Given the description of an element on the screen output the (x, y) to click on. 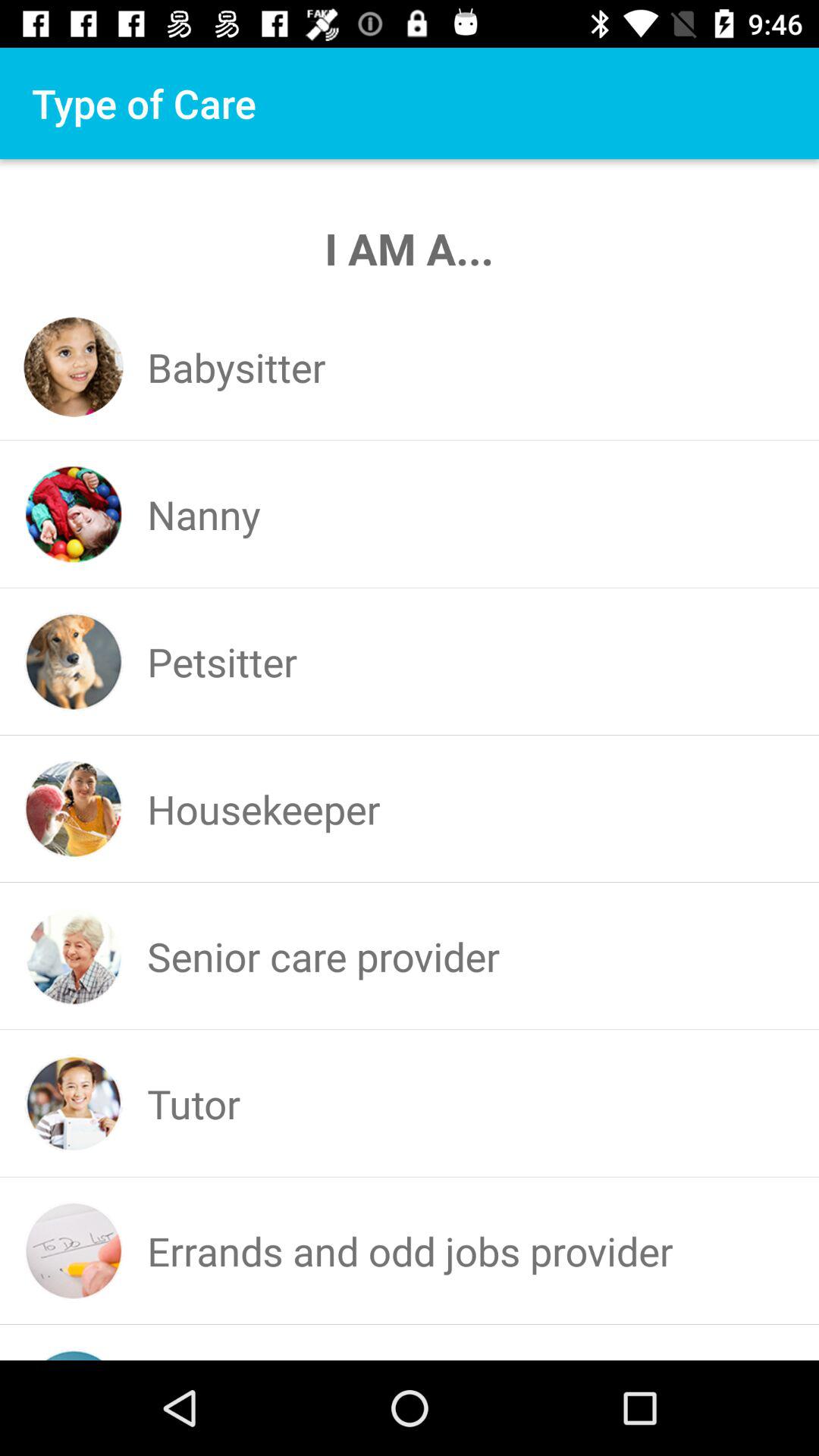
open babysitter item (236, 366)
